Given the description of an element on the screen output the (x, y) to click on. 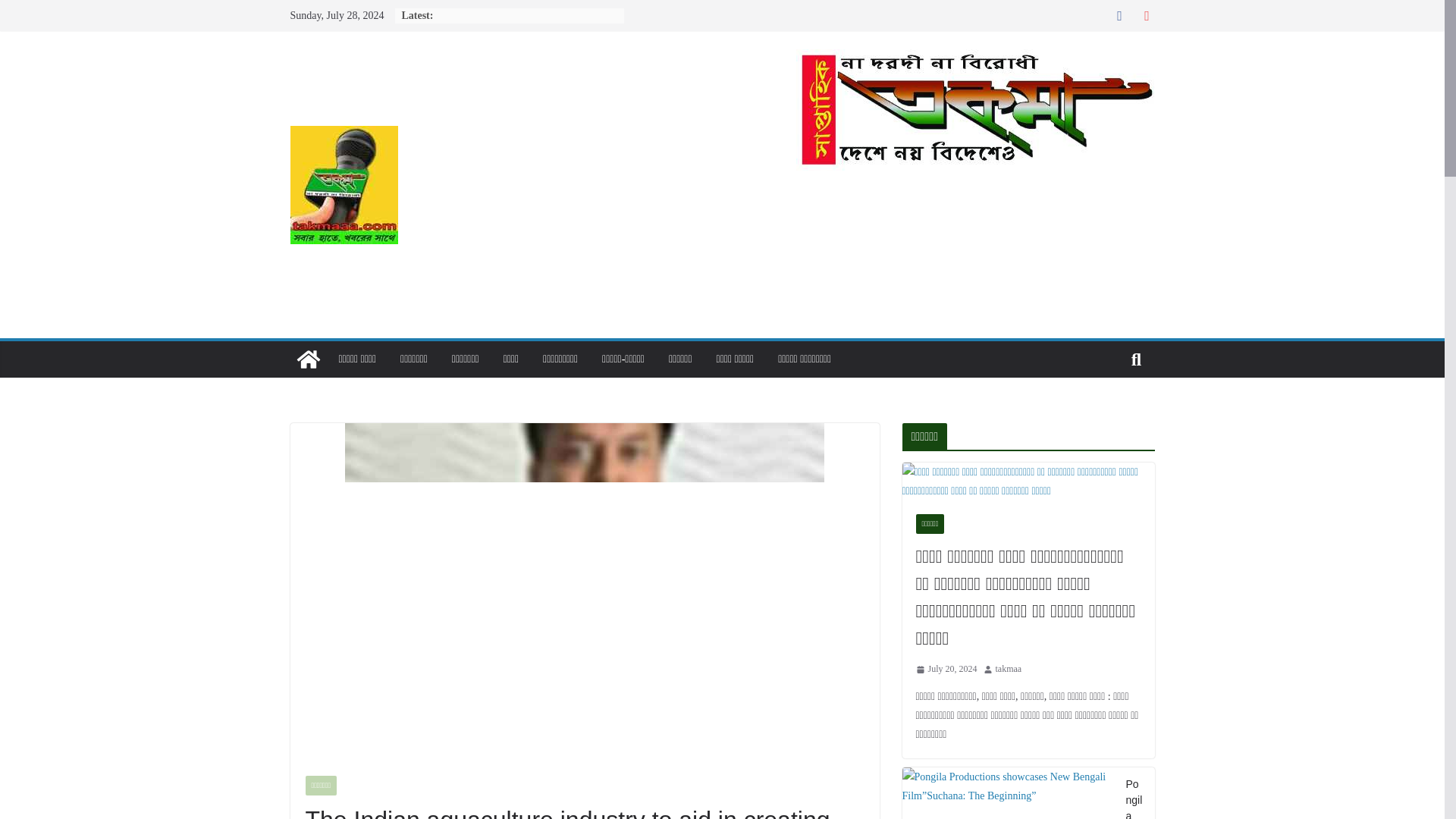
Takmaaa (975, 59)
